Given the description of an element on the screen output the (x, y) to click on. 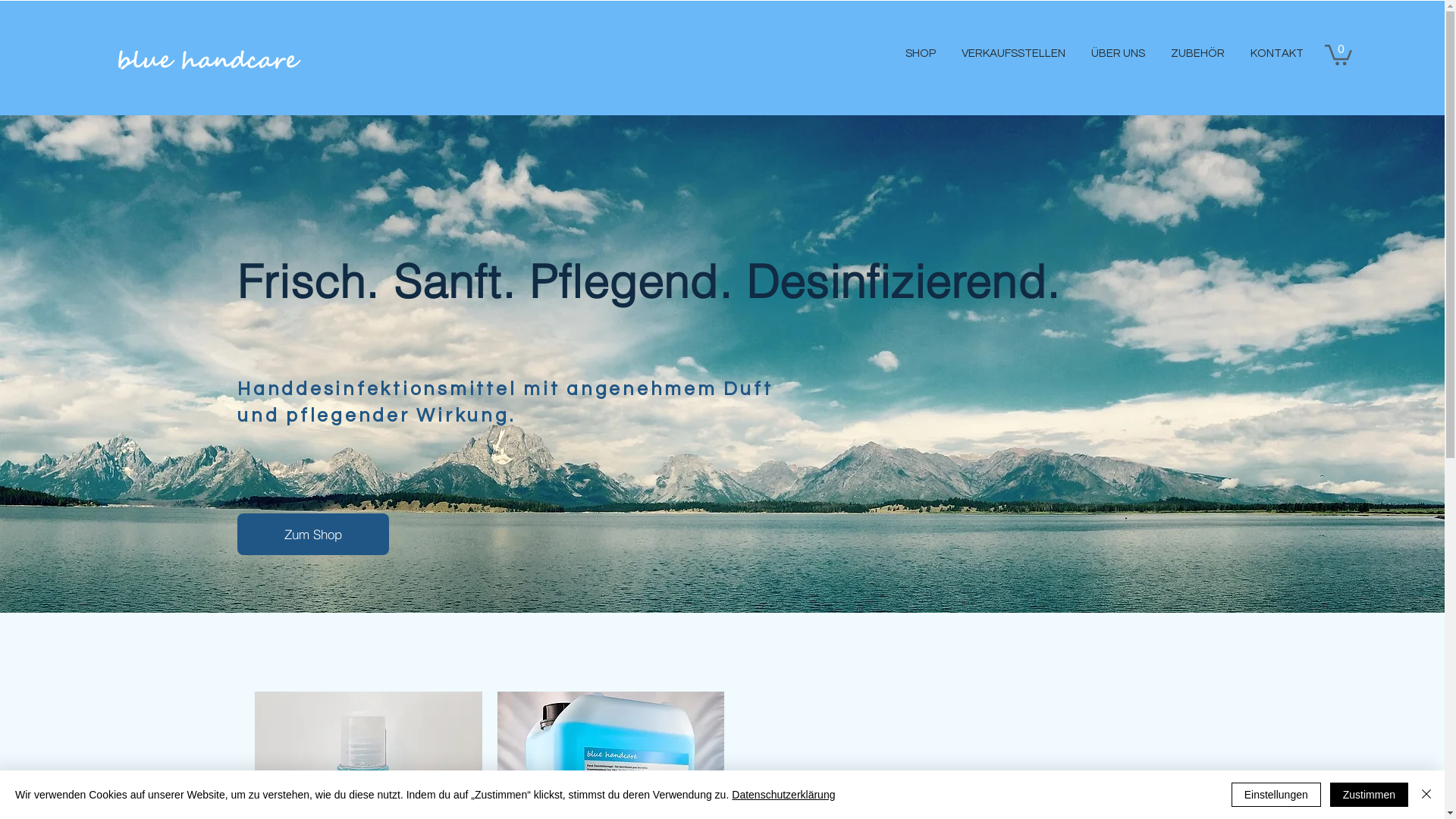
VERKAUFSSTELLEN Element type: text (1011, 53)
SHOP Element type: text (919, 53)
Zustimmen Element type: text (1369, 794)
Einstellungen Element type: text (1276, 794)
Zum Shop Element type: text (313, 534)
KONTAKT Element type: text (1275, 53)
0 Element type: text (1338, 53)
